Given the description of an element on the screen output the (x, y) to click on. 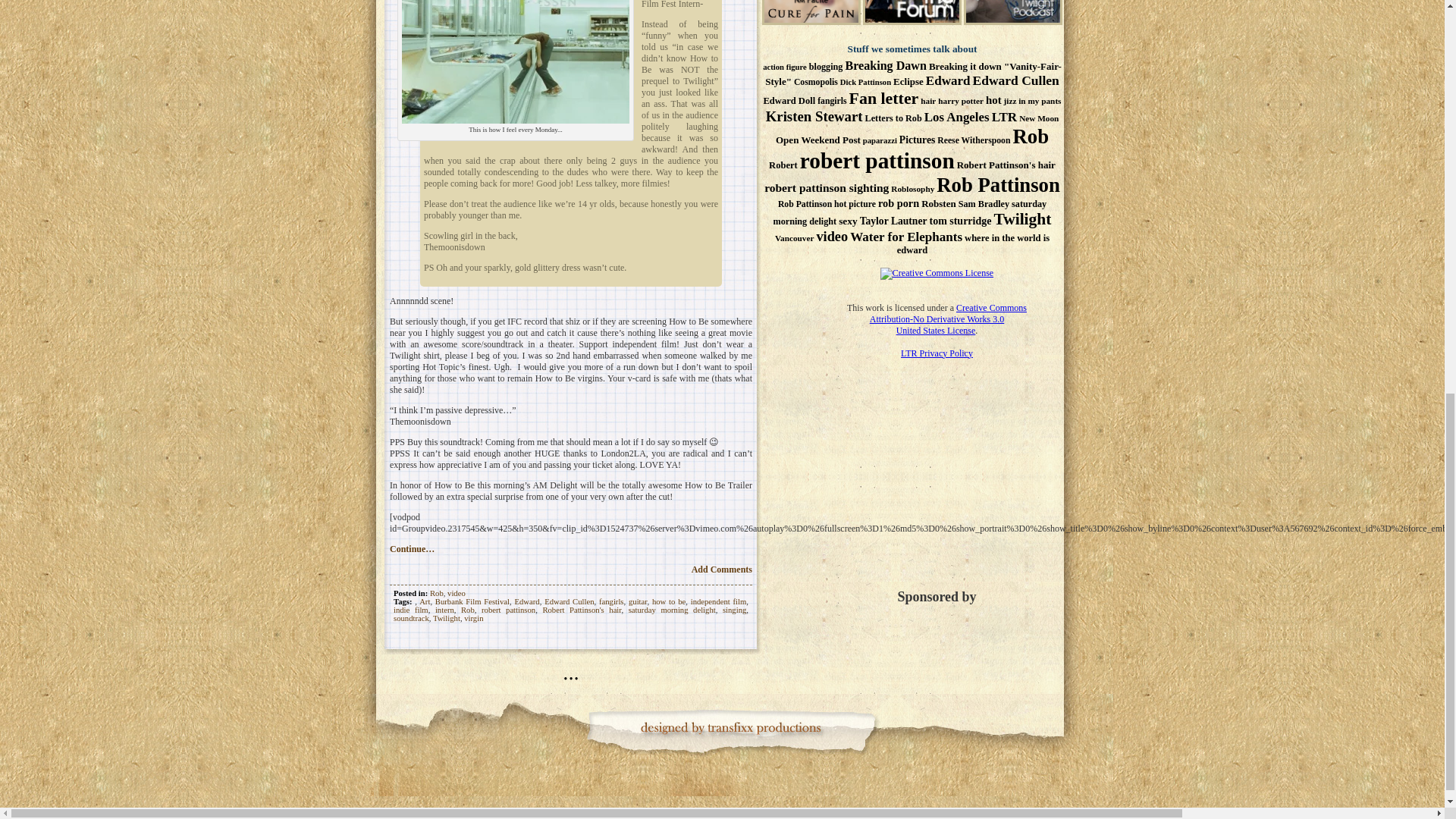
Twilight (446, 618)
fangirls (611, 601)
saturday morning delight (672, 610)
robert pattinson (508, 610)
indie film (410, 610)
soundtrack (411, 618)
Add Comments (721, 569)
Robert Pattinson's hair (581, 610)
intern (444, 610)
video (455, 592)
virgin (473, 618)
Edward (527, 601)
LTT Forum (911, 21)
how to be (668, 601)
guitar (637, 601)
